Given the description of an element on the screen output the (x, y) to click on. 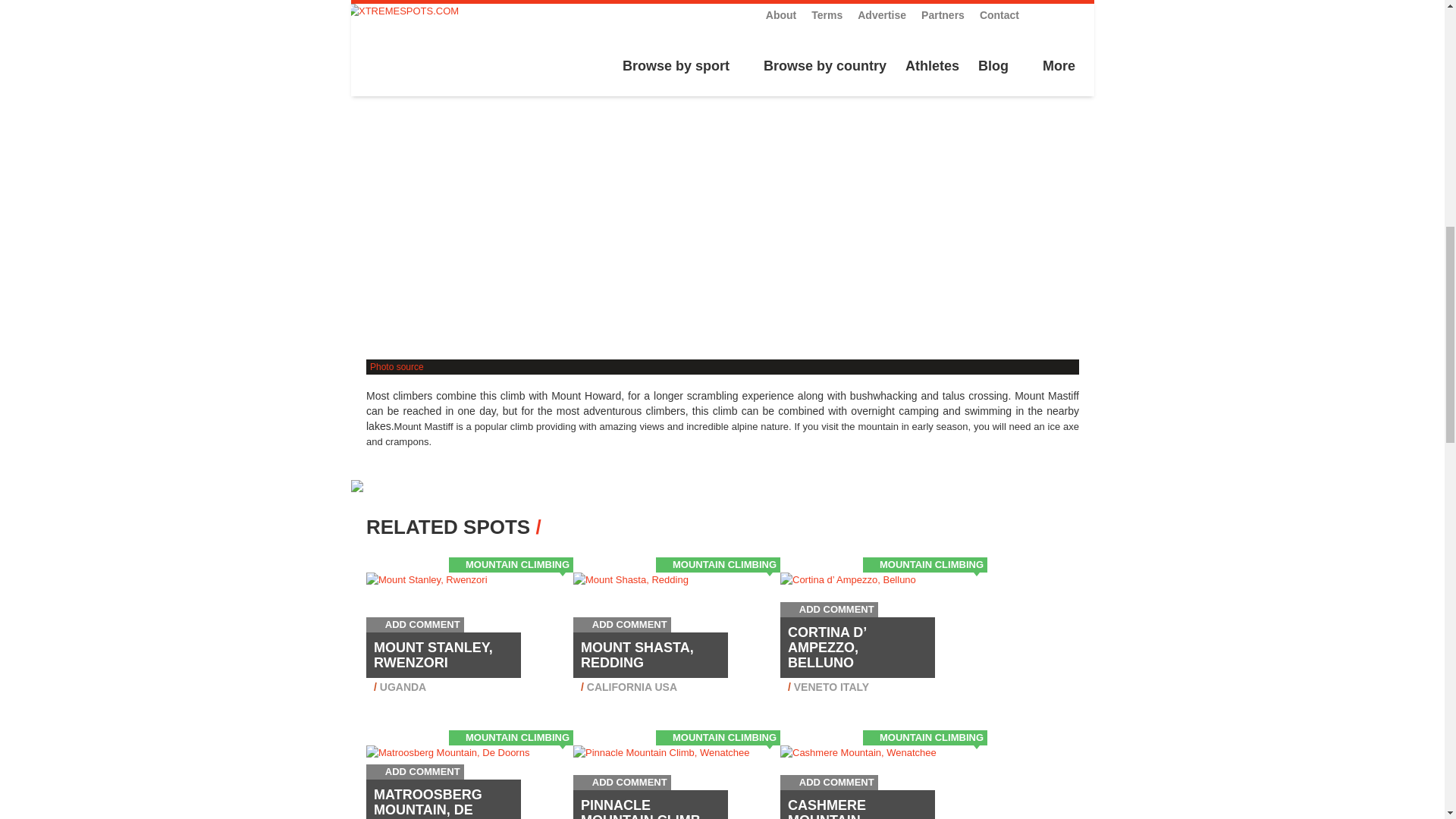
Photo source (396, 366)
MOUNTAIN CLIMBING (517, 564)
  ADD COMMENT (415, 624)
MOUNT STANLEY, RWENZORI (433, 654)
